Given the description of an element on the screen output the (x, y) to click on. 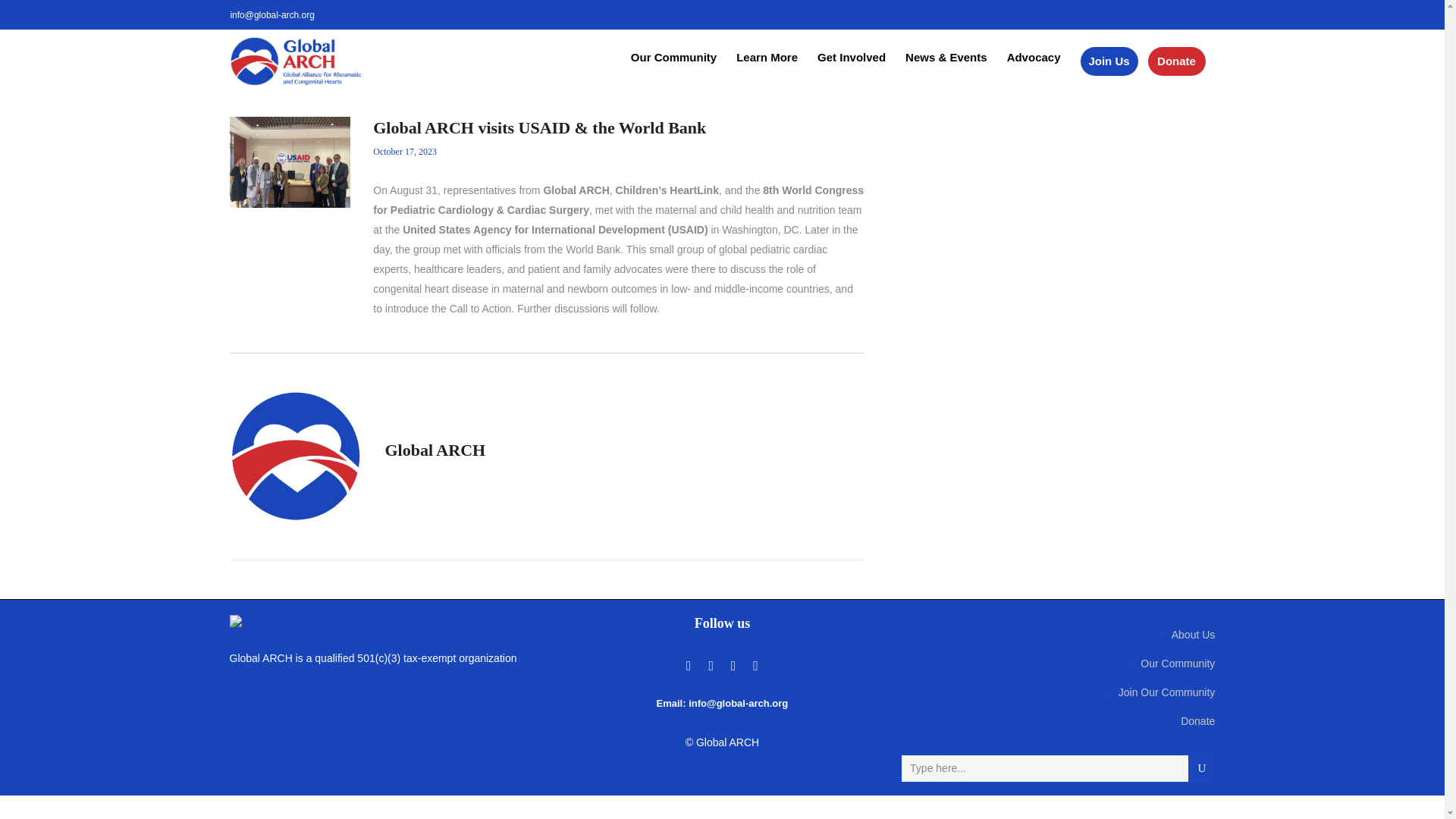
Donate (1175, 61)
Join Us (1104, 61)
U (1201, 768)
Learn More (767, 57)
Our Community (673, 57)
Advocacy (1033, 57)
Get Involved (851, 57)
